Given the description of an element on the screen output the (x, y) to click on. 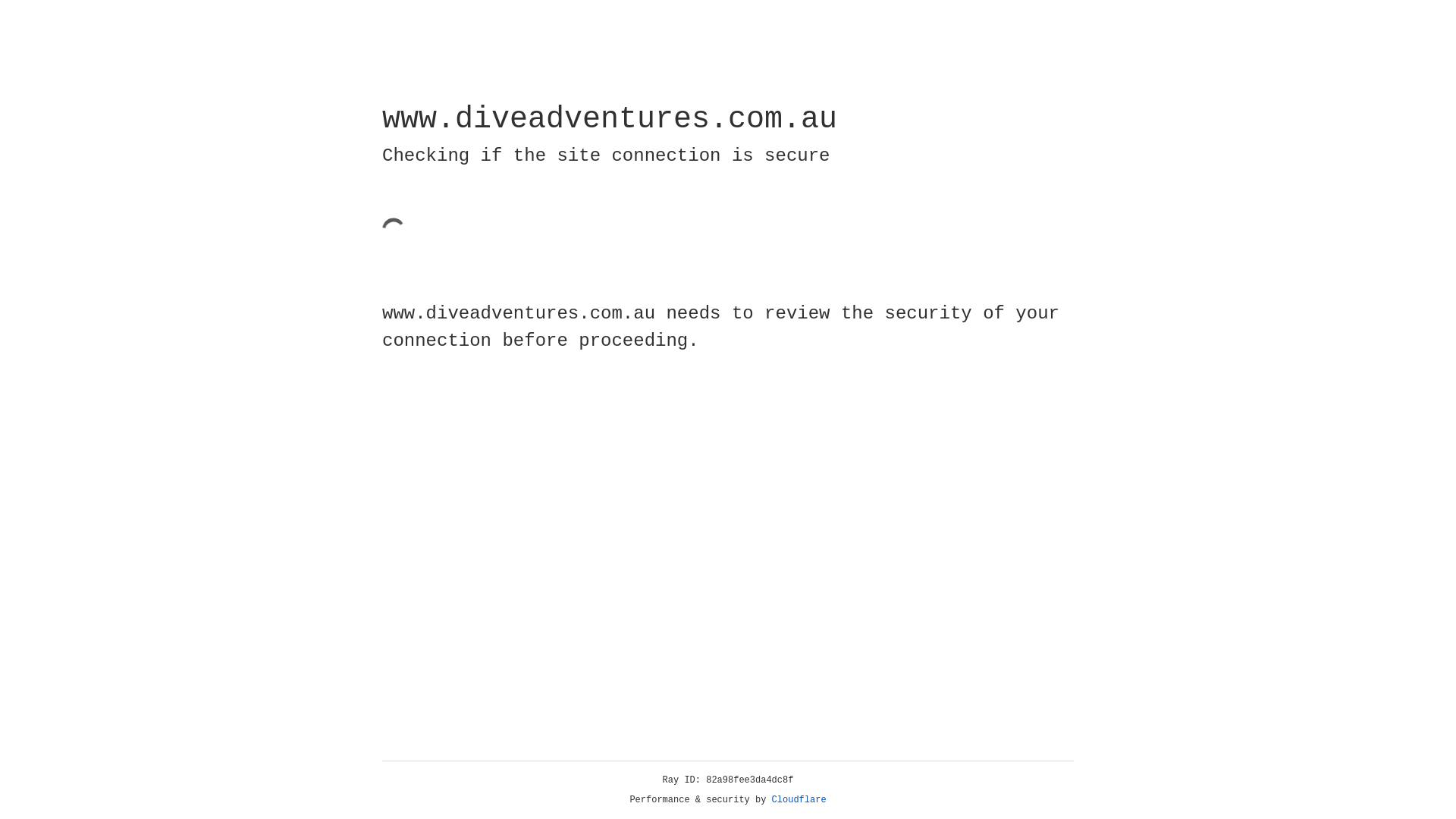
Cloudflare Element type: text (798, 799)
